Given the description of an element on the screen output the (x, y) to click on. 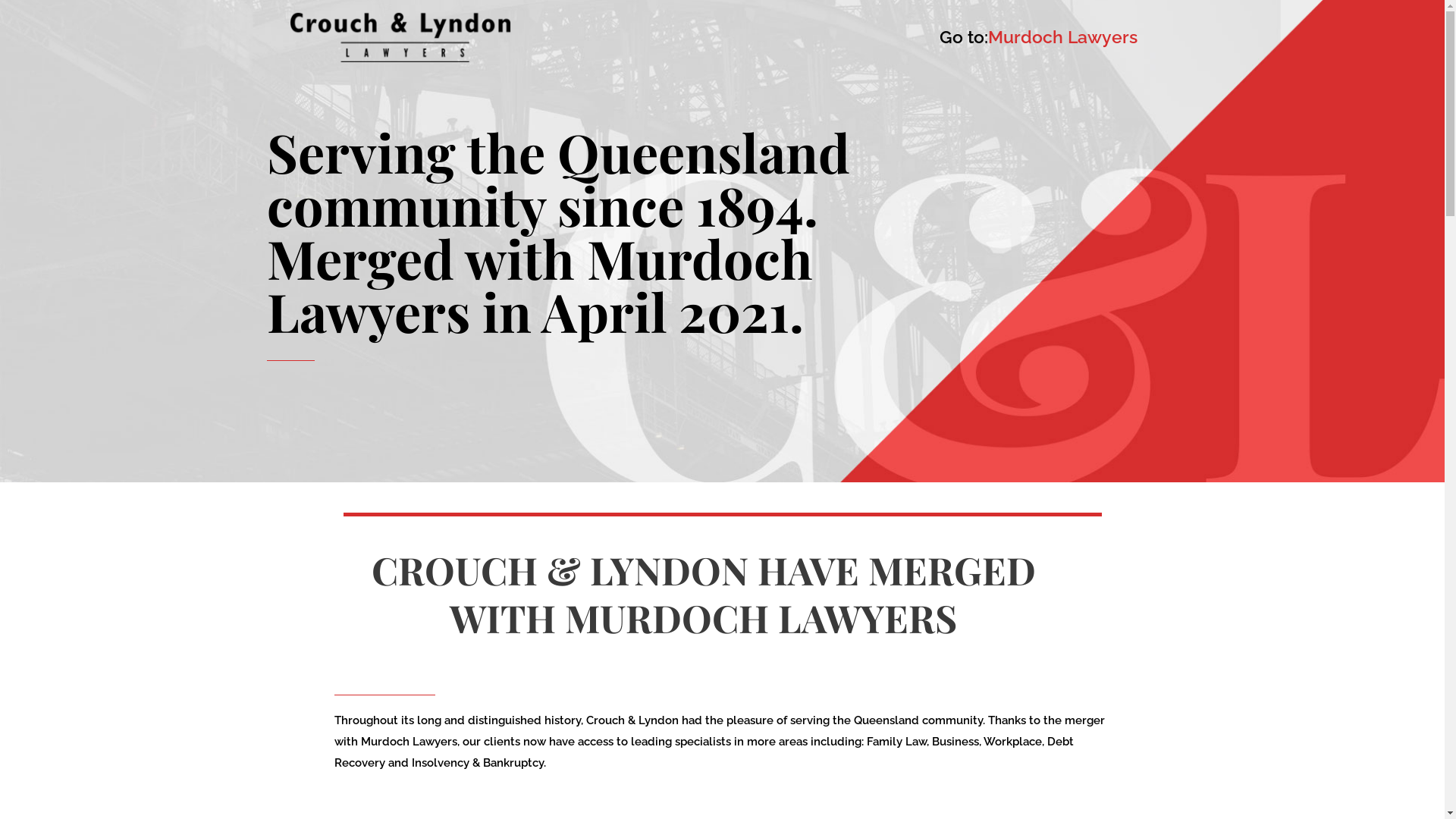
Go to:
Murdoch Lawyers Element type: text (1038, 37)
